Given the description of an element on the screen output the (x, y) to click on. 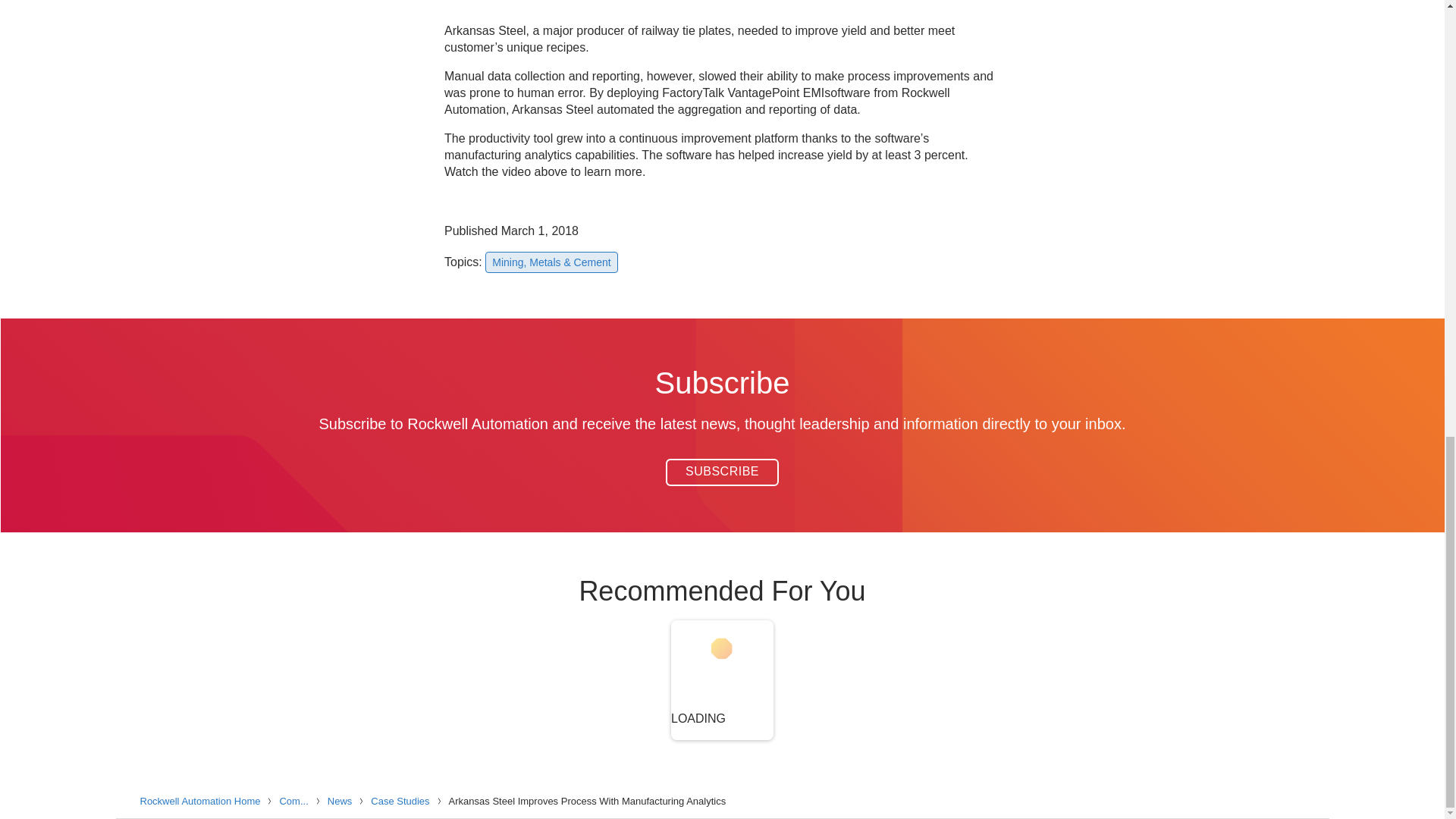
SUBSCRIBE (721, 472)
Case Studies (402, 800)
Rockwell Automation Home (201, 800)
Com... (296, 800)
